Given the description of an element on the screen output the (x, y) to click on. 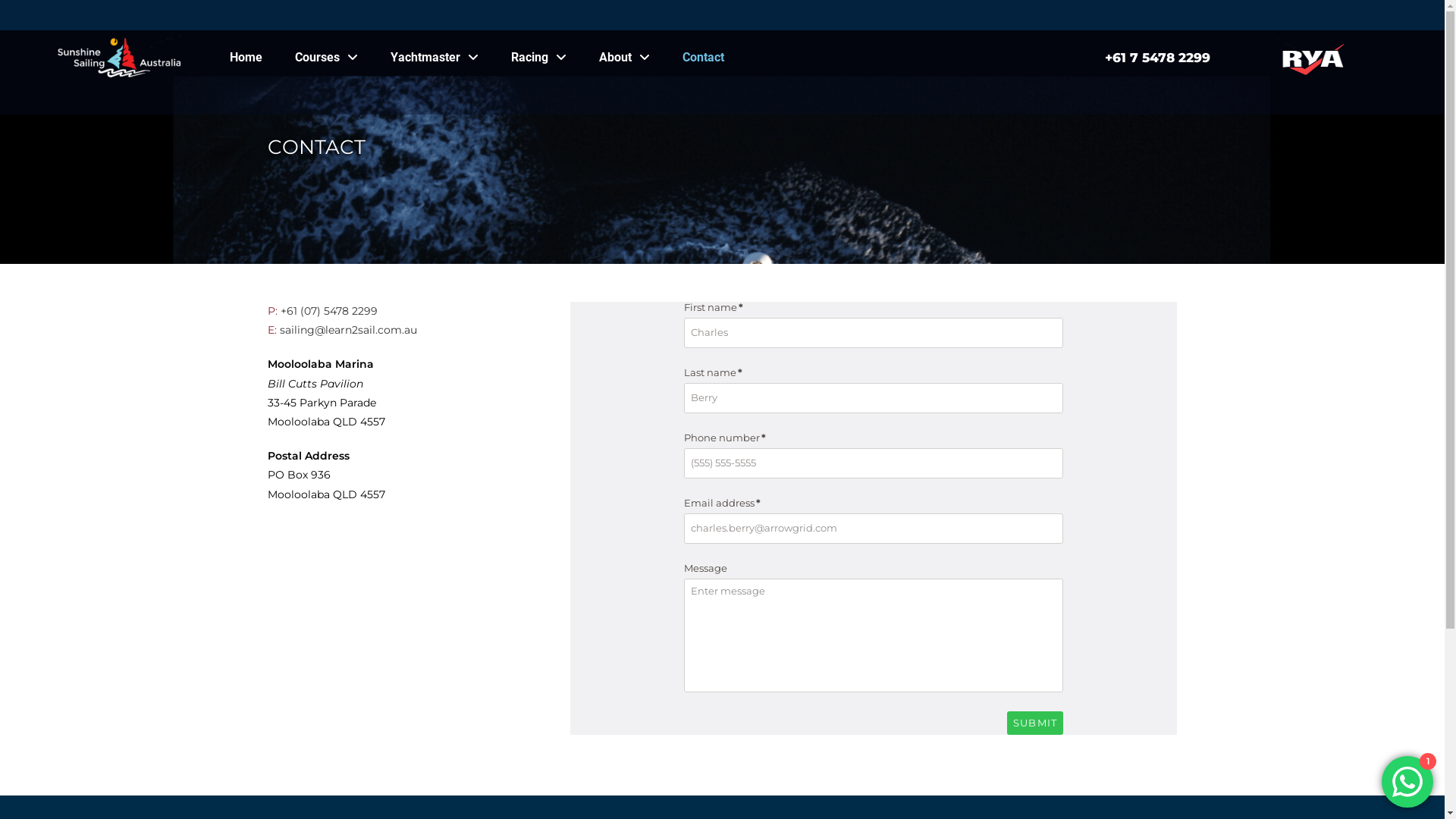
Contact Element type: text (703, 57)
WhatsApp us Element type: hover (1407, 781)
Home Element type: text (245, 57)
Racing Element type: text (538, 57)
+61 (07) 5478 2299 Element type: text (328, 310)
Yachtmaster Element type: text (434, 57)
About Element type: text (624, 57)
sailing@learn2sail.com.au Element type: text (347, 329)
Submit Element type: text (1035, 723)
Courses Element type: text (325, 57)
